Given the description of an element on the screen output the (x, y) to click on. 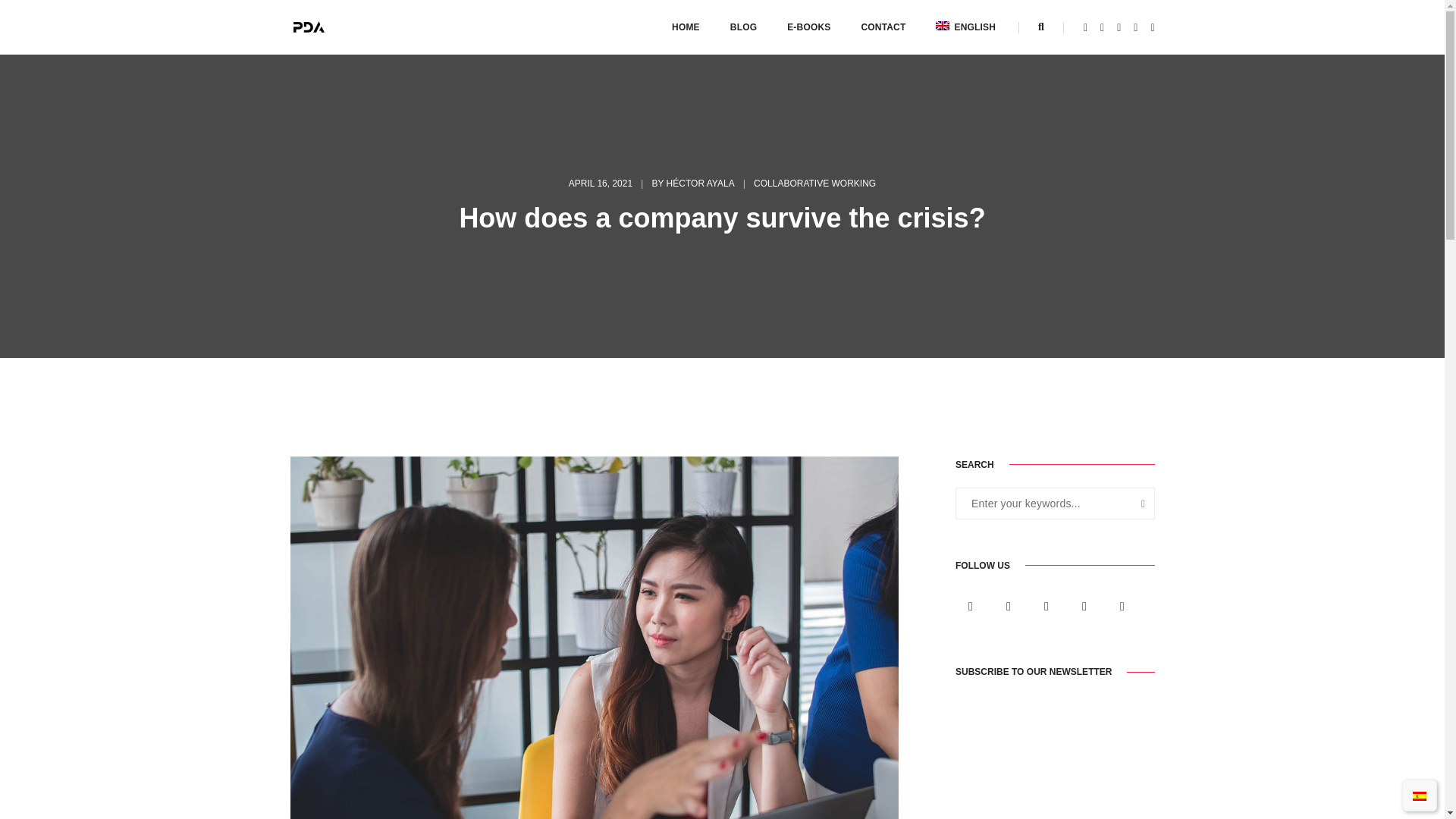
ENGLISH (965, 27)
Form 0 (1054, 756)
English (965, 27)
PDA - Blog (308, 26)
COLLABORATIVE WORKING (815, 183)
